Given the description of an element on the screen output the (x, y) to click on. 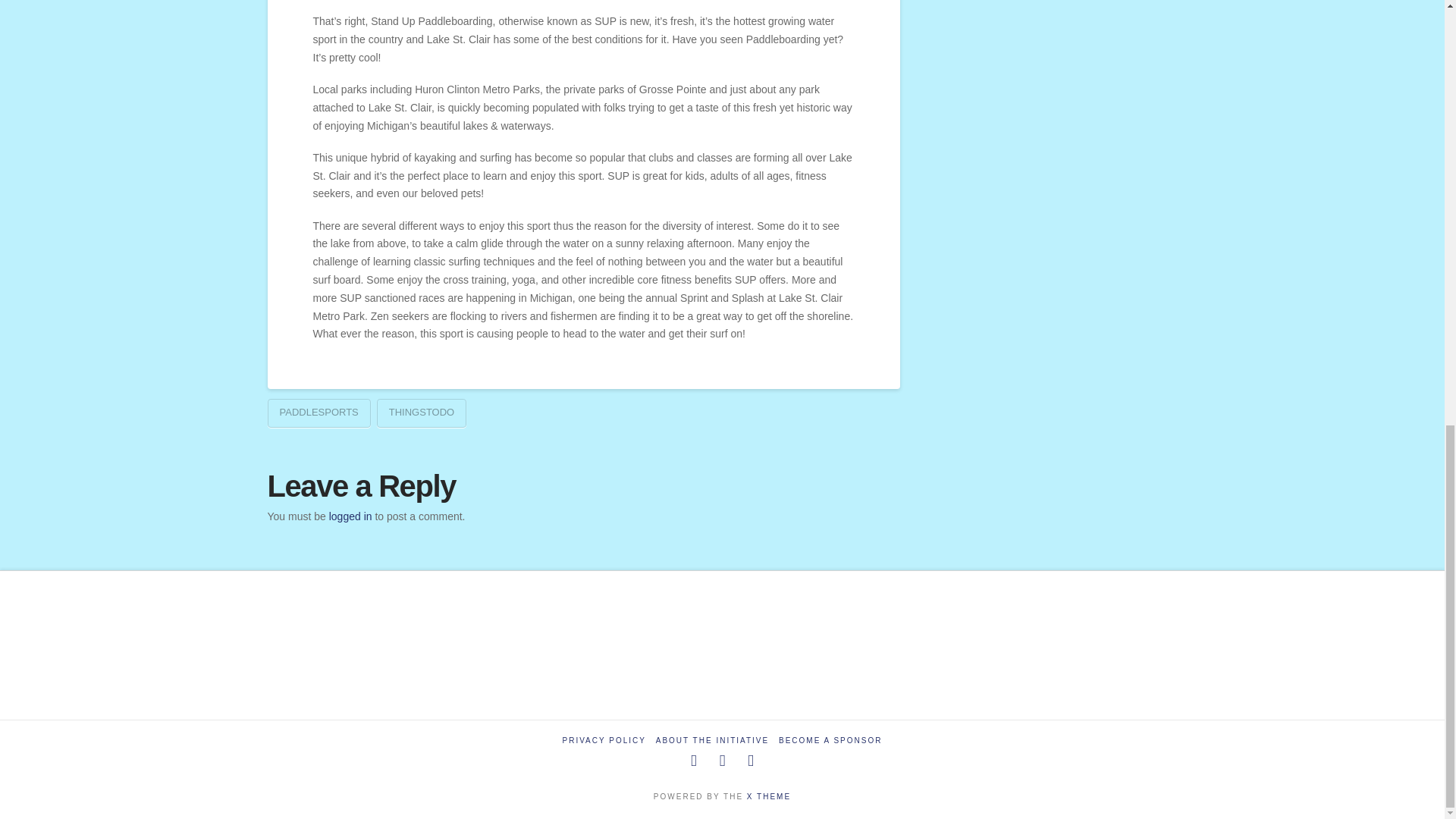
BECOME A SPONSOR (830, 740)
PRIVACY POLICY (604, 740)
X THEME (768, 796)
PADDLESPORTS (317, 412)
logged in (350, 516)
THINGSTODO (421, 412)
ABOUT THE INITIATIVE (712, 740)
